Given the description of an element on the screen output the (x, y) to click on. 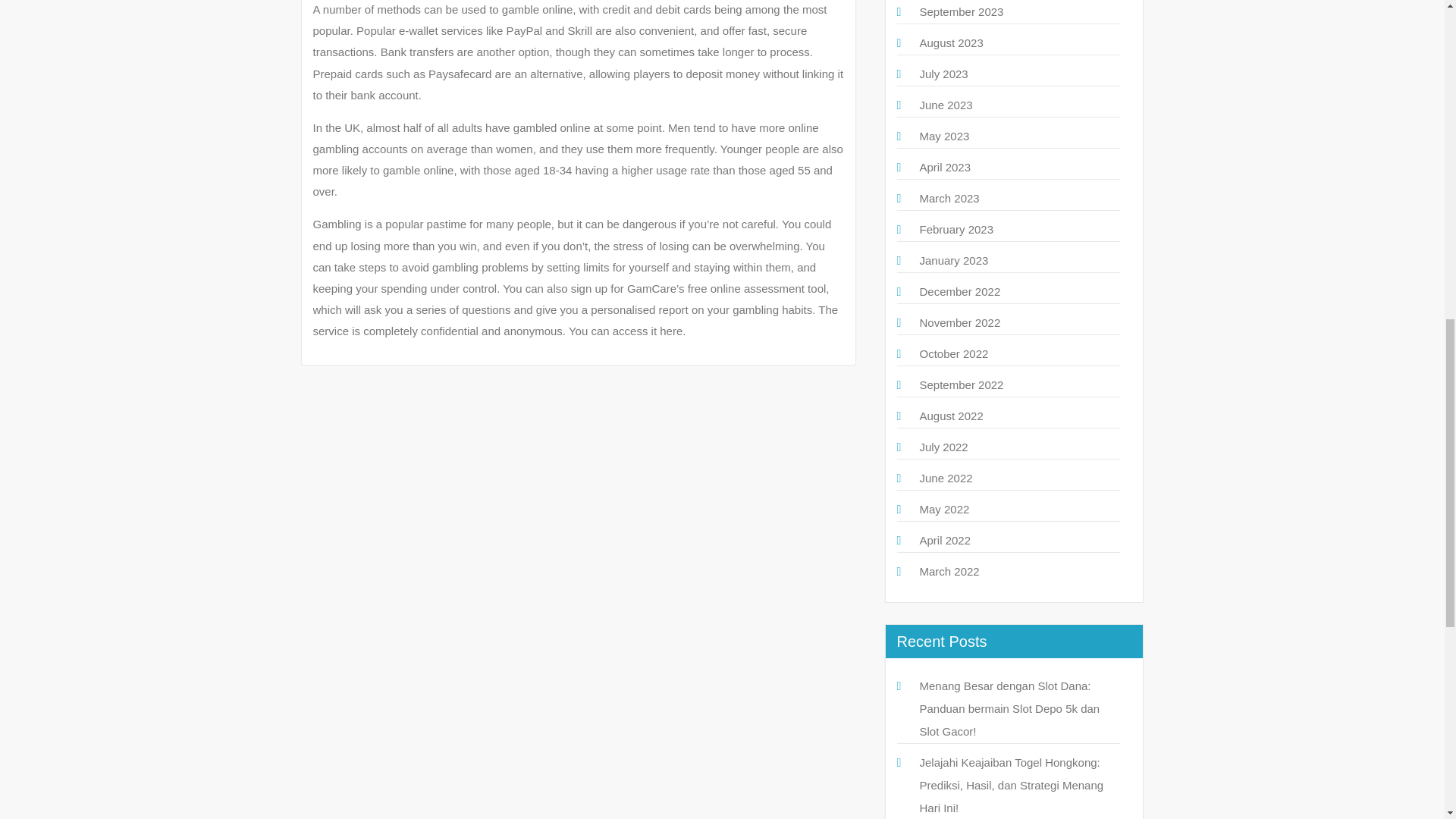
June 2022 (945, 477)
May 2023 (943, 135)
December 2022 (959, 291)
November 2022 (959, 322)
May 2022 (943, 508)
August 2023 (950, 42)
June 2023 (945, 104)
April 2022 (944, 540)
September 2023 (960, 11)
July 2023 (943, 73)
March 2023 (948, 197)
September 2022 (960, 384)
February 2023 (955, 228)
January 2023 (953, 259)
April 2023 (944, 166)
